Given the description of an element on the screen output the (x, y) to click on. 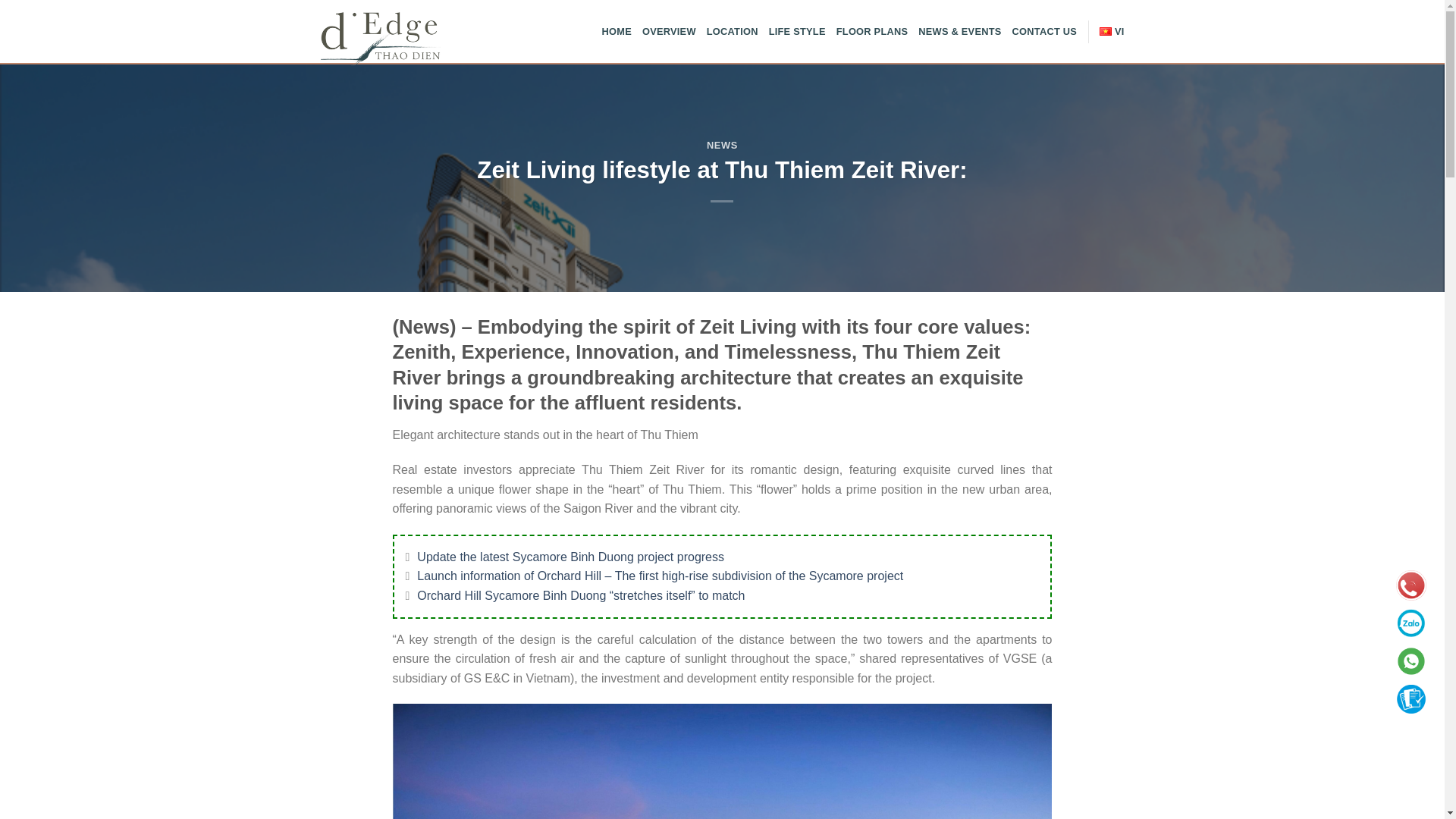
HOME (616, 31)
LOCATION (732, 31)
OVERVIEW (668, 31)
CONTACT US (1044, 31)
FLOOR PLANS (871, 31)
Update the latest Sycamore Binh Duong project progress (569, 556)
NEWS (722, 144)
LIFE STYLE (796, 31)
